Given the description of an element on the screen output the (x, y) to click on. 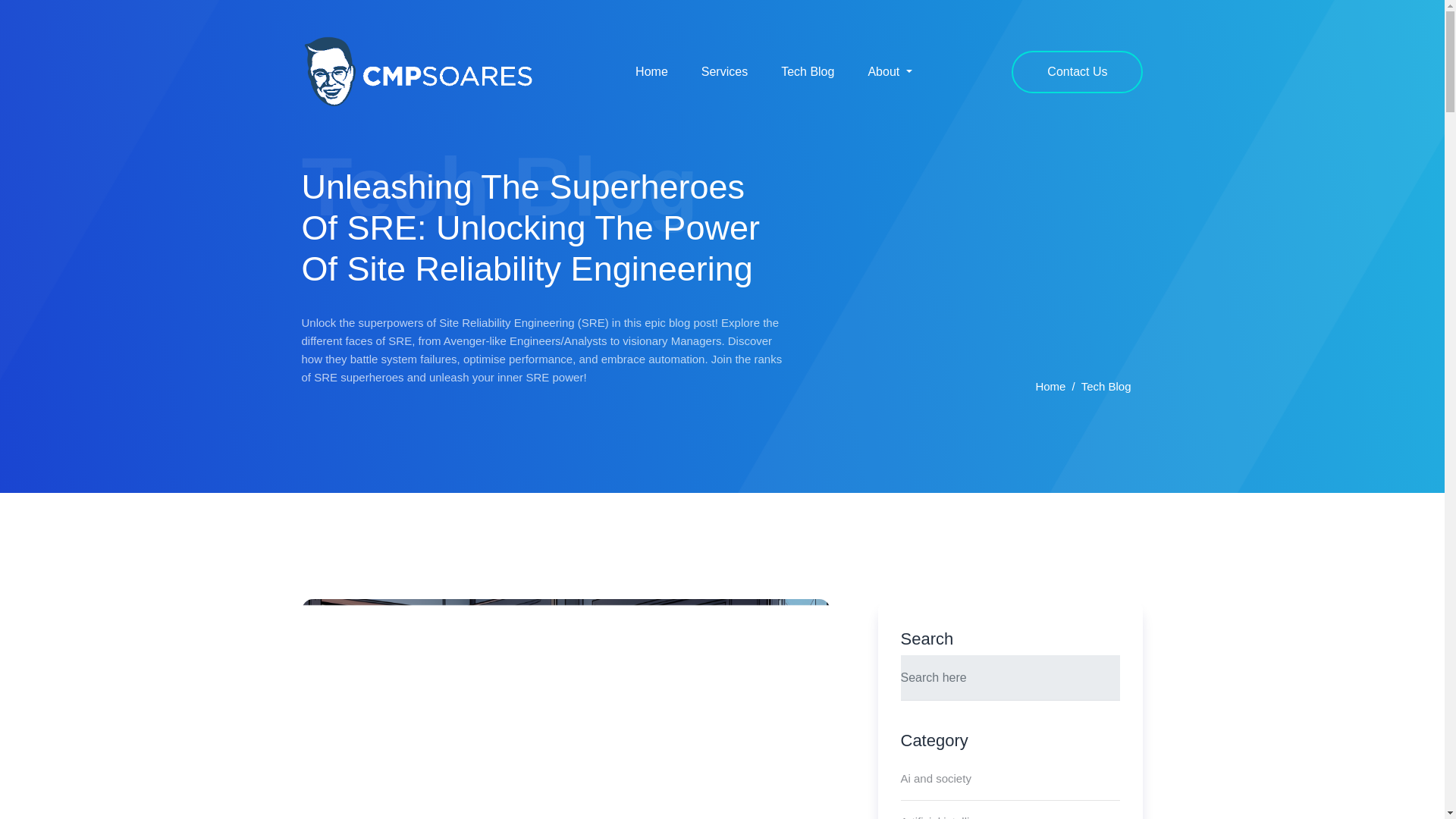
Artificial intelligence (951, 809)
Home (651, 71)
Contact Us (1076, 71)
Ai and society (936, 778)
About (889, 71)
Tech Blog (807, 71)
Home (1050, 386)
Services (724, 71)
